Given the description of an element on the screen output the (x, y) to click on. 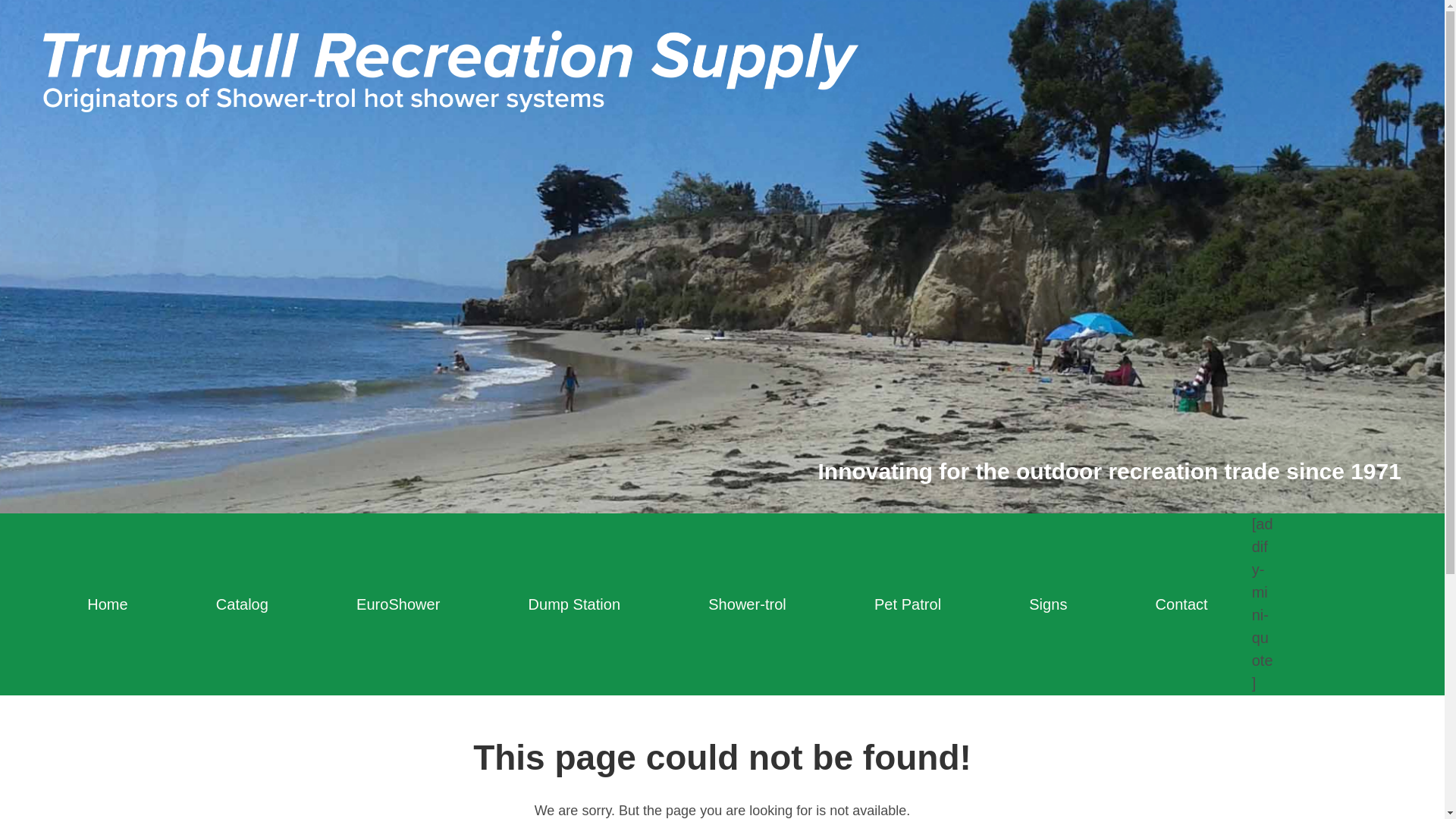
Home (107, 604)
Dump Station (573, 604)
Signs (1047, 604)
Shower-trol (746, 604)
EuroShower (398, 604)
Pet Patrol (907, 604)
Catalog (242, 604)
Contact (1180, 604)
